Given the description of an element on the screen output the (x, y) to click on. 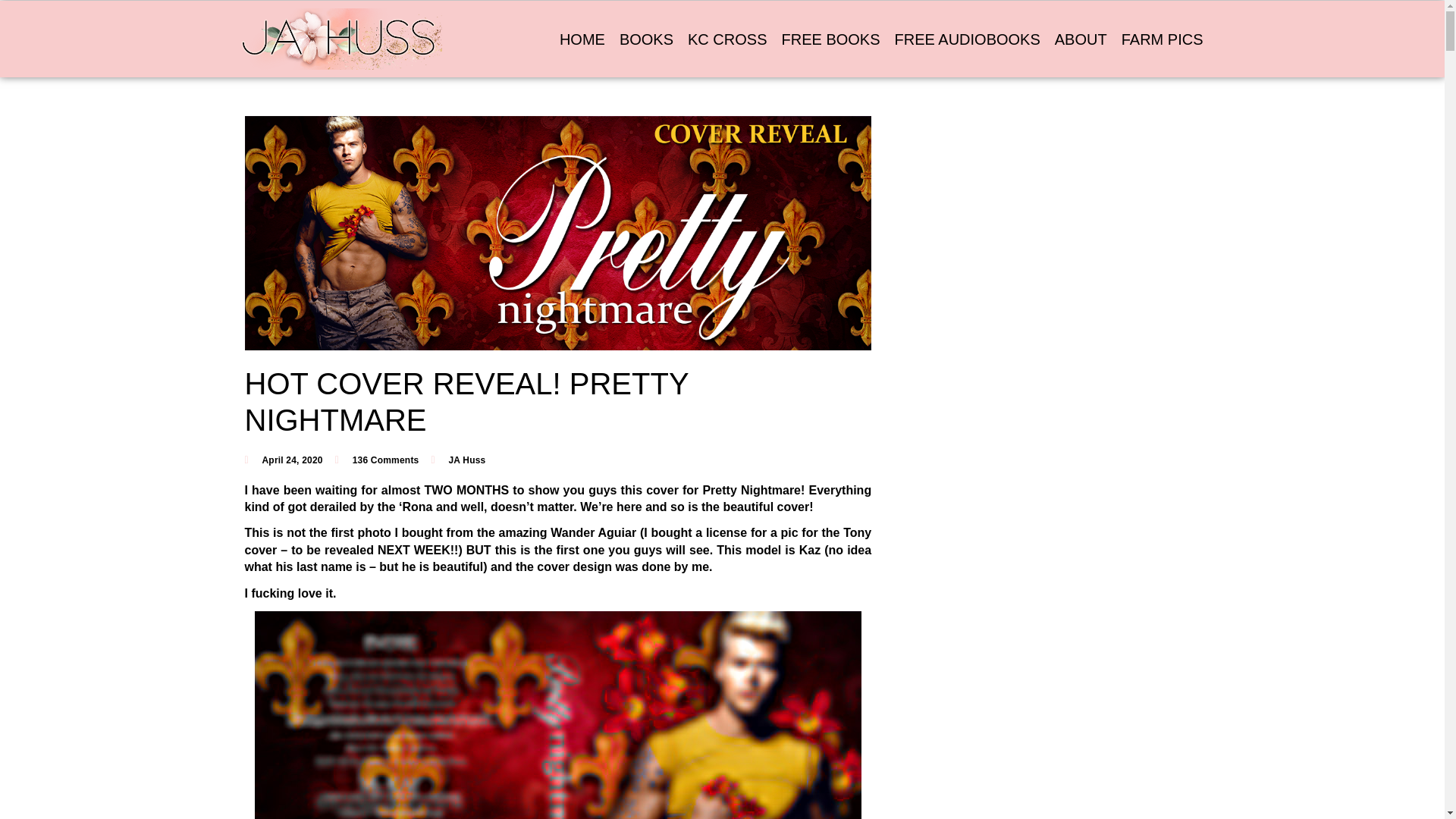
ABOUT (1080, 39)
FARM PICS (1162, 39)
HOME (582, 39)
BOOKS (646, 39)
KC CROSS (726, 39)
FREE AUDIOBOOKS (967, 39)
FREE BOOKS (829, 39)
